Given the description of an element on the screen output the (x, y) to click on. 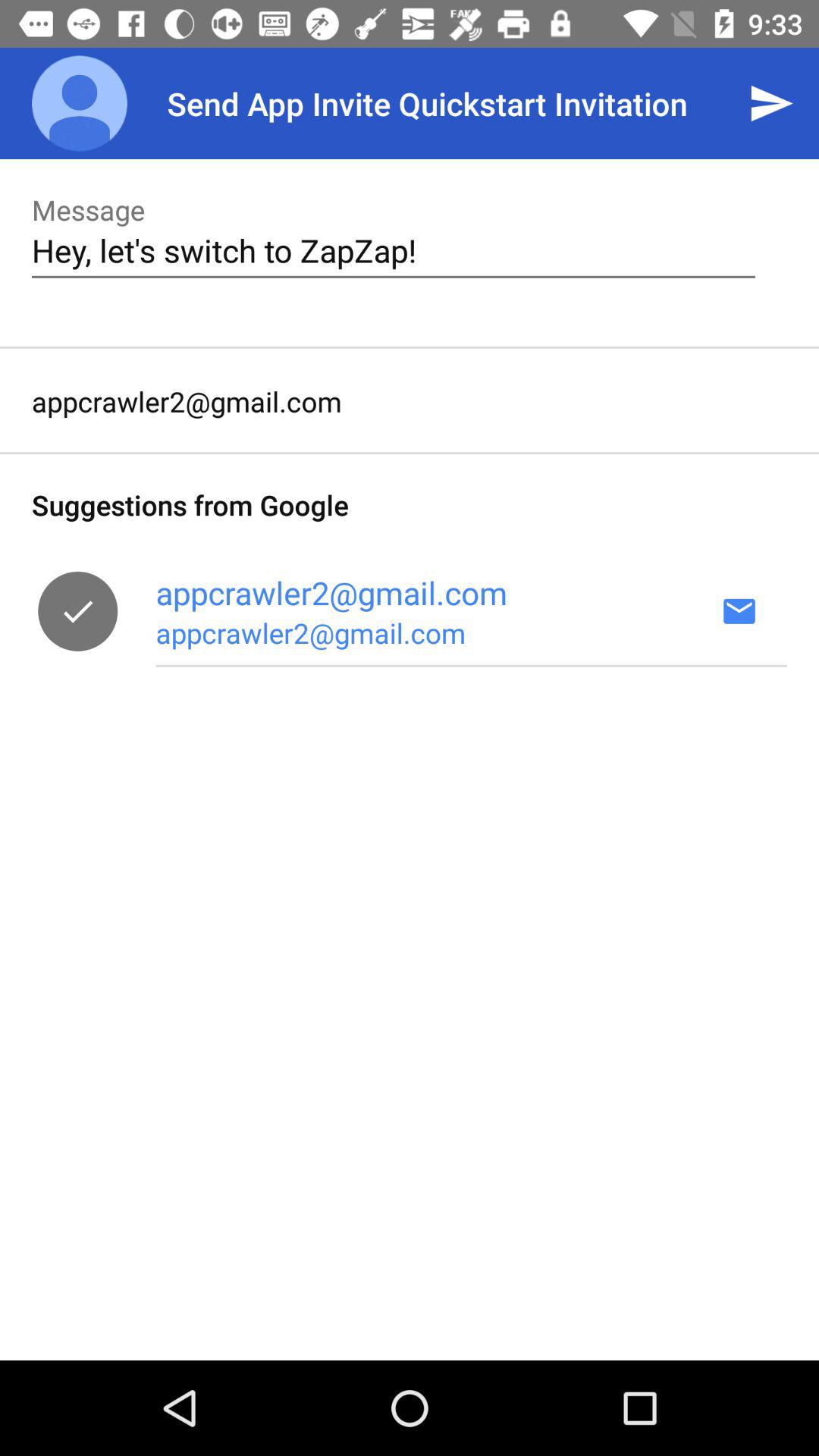
choose icon to the left of the send app invite app (79, 103)
